Given the description of an element on the screen output the (x, y) to click on. 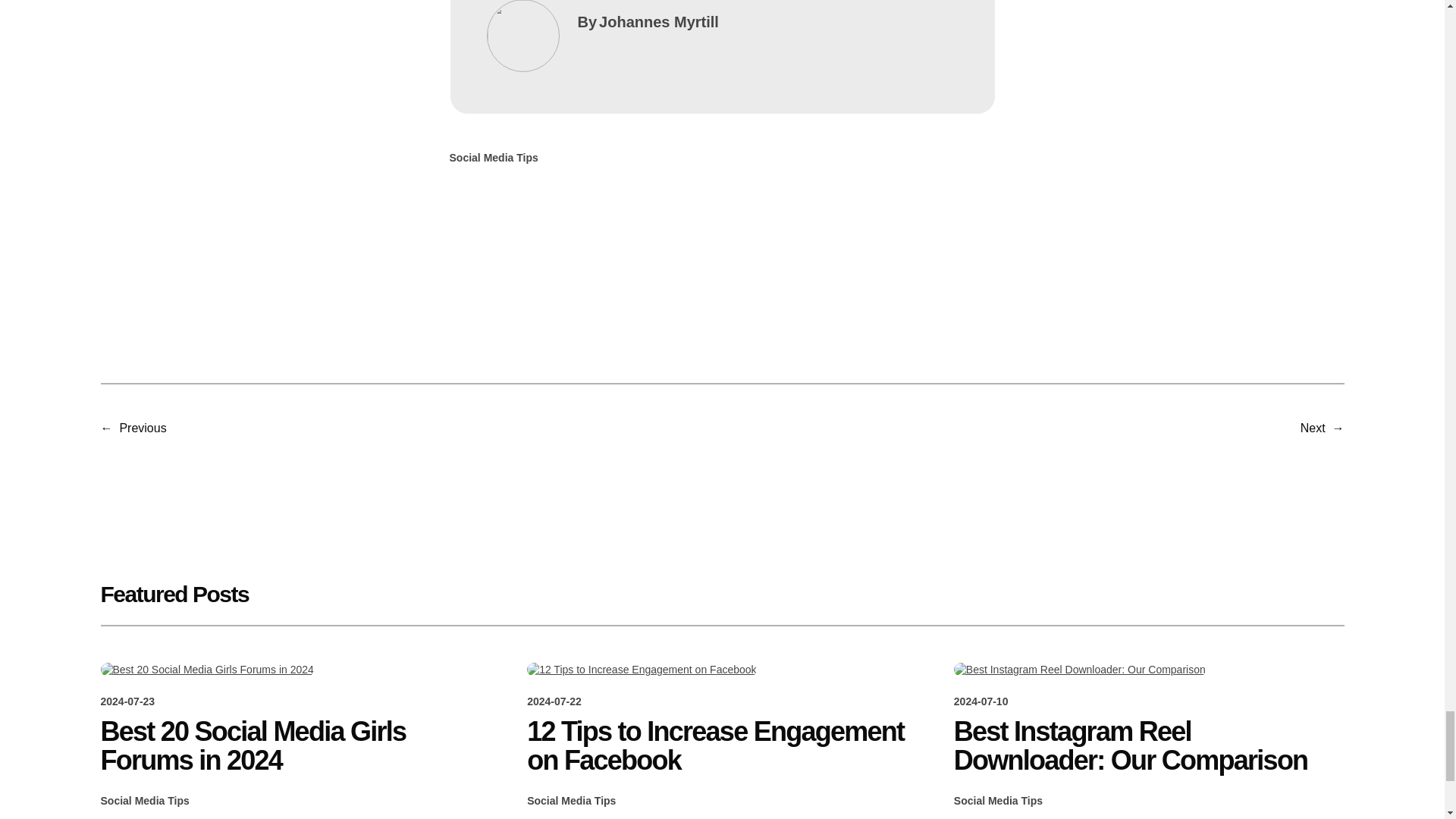
Social Media Tips (144, 800)
Best 20 Social Media Girls Forums in 2024 (295, 745)
Social Media Tips (997, 800)
Social Media Tips (492, 157)
Next (1312, 427)
12 Tips to Increase Engagement on Facebook (722, 745)
Best Instagram Reel Downloader: Our Comparison (1148, 745)
Social Media Tips (571, 800)
Previous (142, 427)
